Given the description of an element on the screen output the (x, y) to click on. 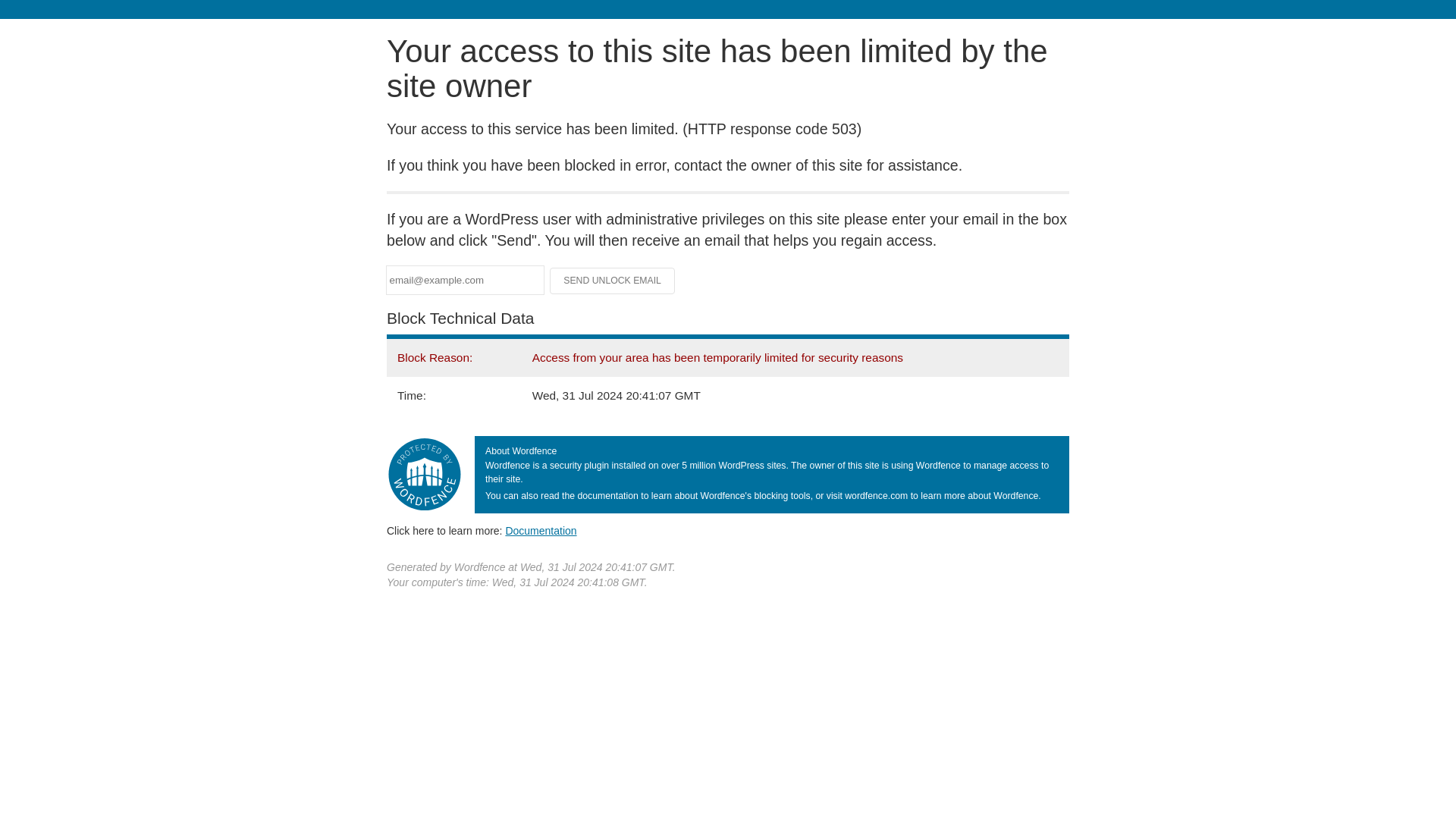
Send Unlock Email (612, 280)
Send Unlock Email (612, 280)
